Given the description of an element on the screen output the (x, y) to click on. 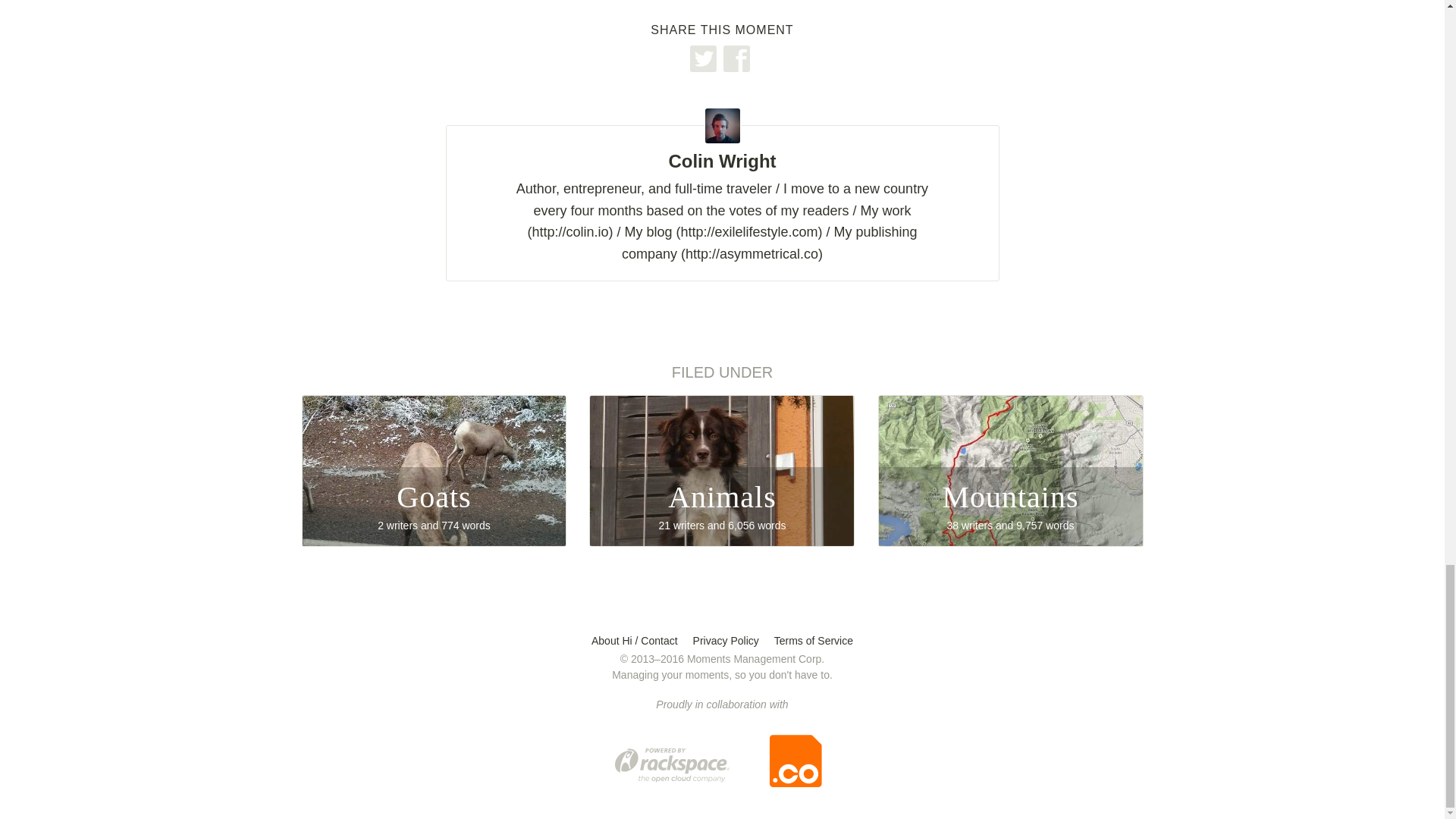
Terms of Service (1009, 470)
Colin Wright (721, 470)
Privacy Policy (813, 640)
